Given the description of an element on the screen output the (x, y) to click on. 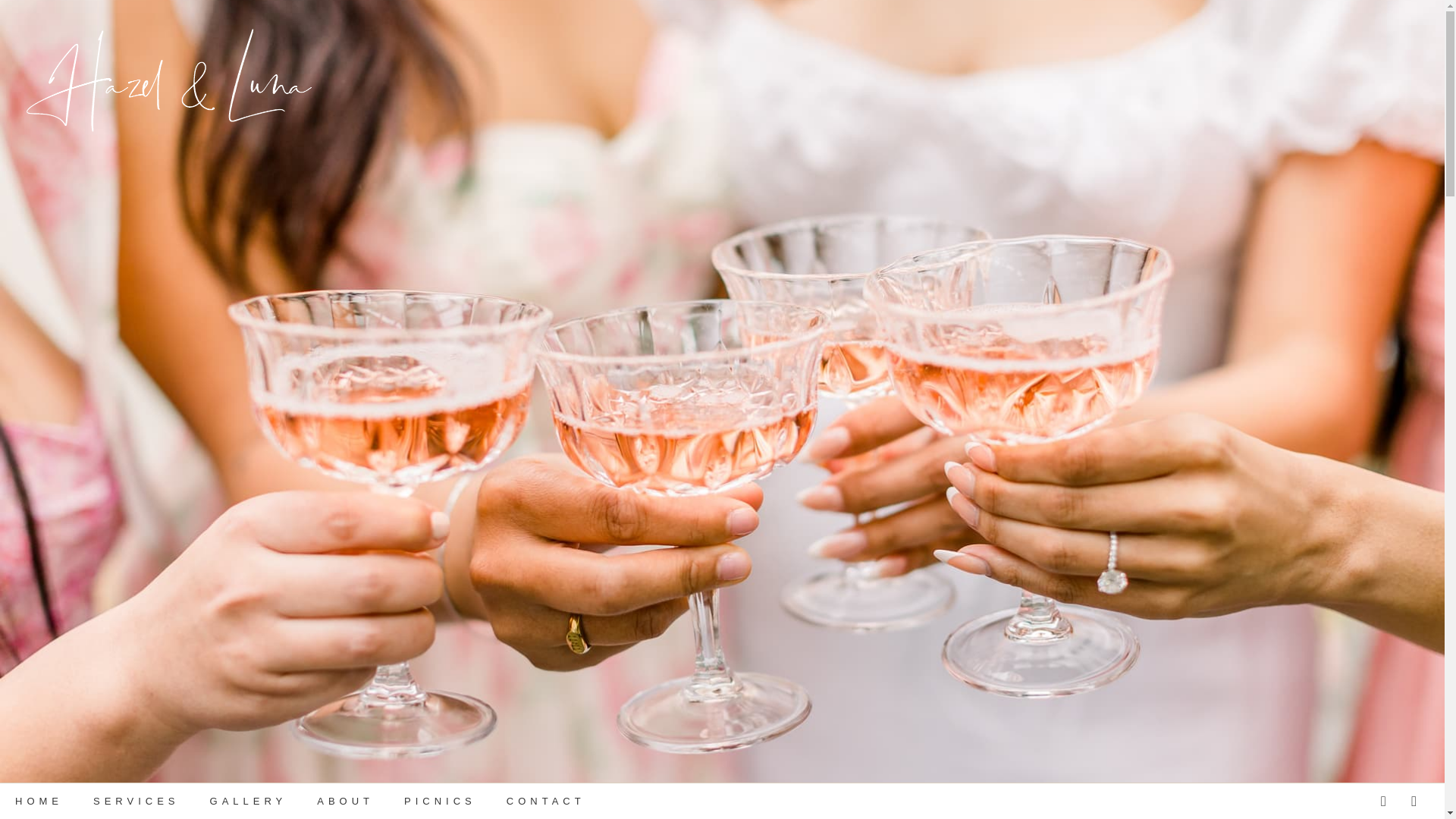
CONTACT (202, 800)
PICNICS (52, 800)
Instagram (1411, 800)
